Given the description of an element on the screen output the (x, y) to click on. 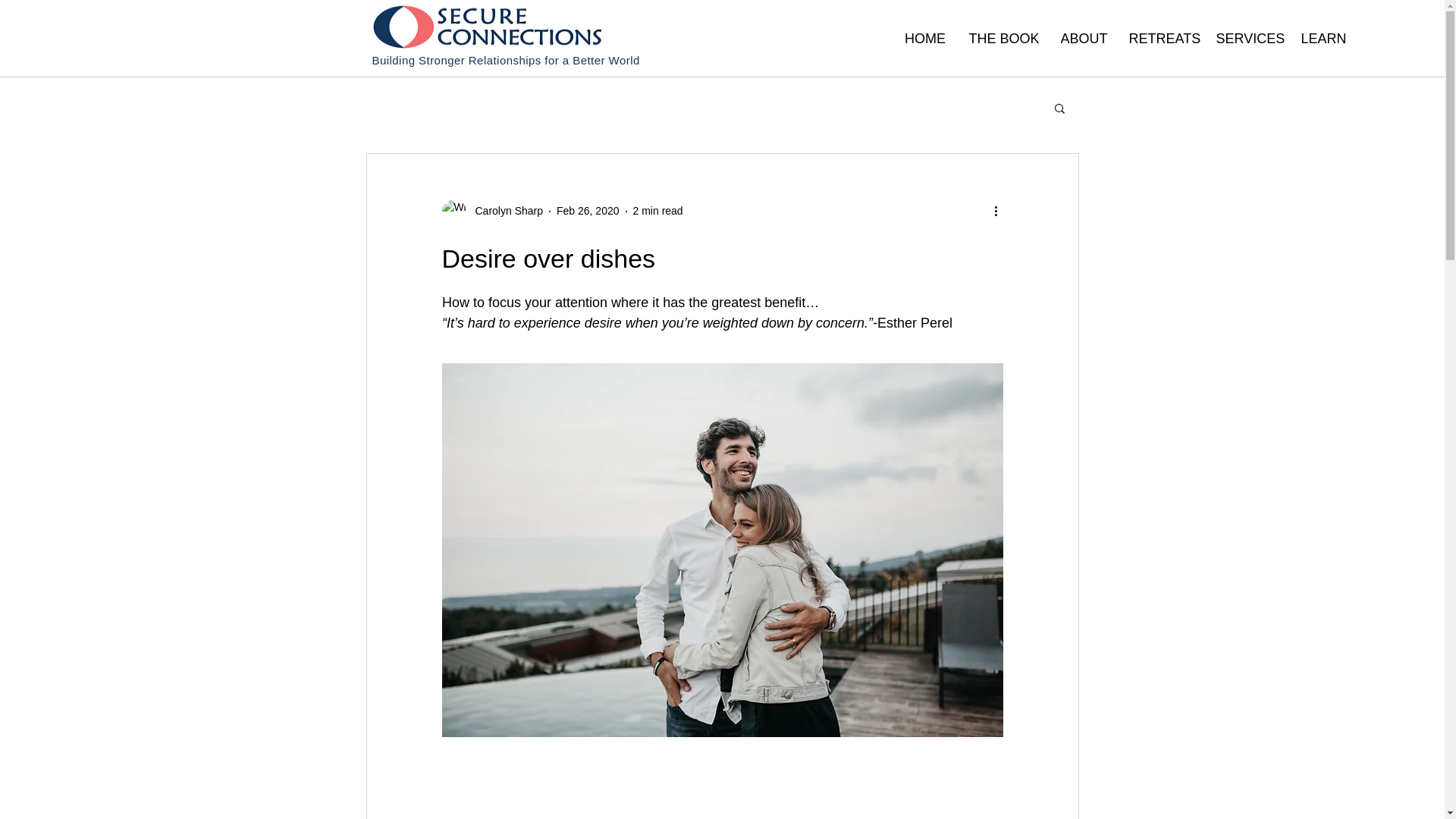
Carolyn Sharp (504, 211)
Carolyn Sharp (492, 210)
2 min read (657, 210)
LEARN (1321, 38)
HOME (925, 38)
THE BOOK (1002, 38)
Feb 26, 2020 (588, 210)
